Given the description of an element on the screen output the (x, y) to click on. 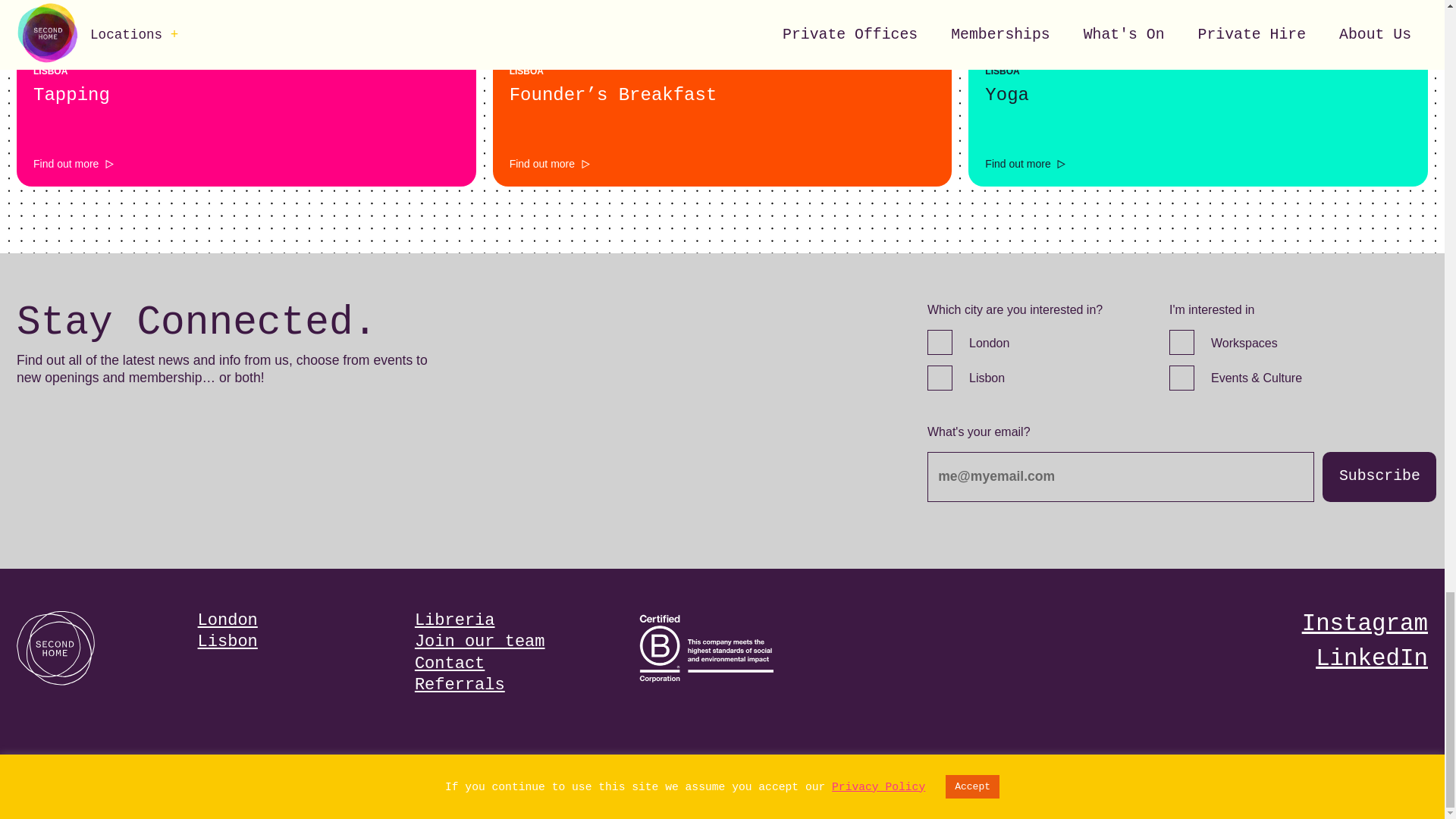
Lisbon (939, 377)
London (939, 342)
Workspaces (1181, 342)
